Given the description of an element on the screen output the (x, y) to click on. 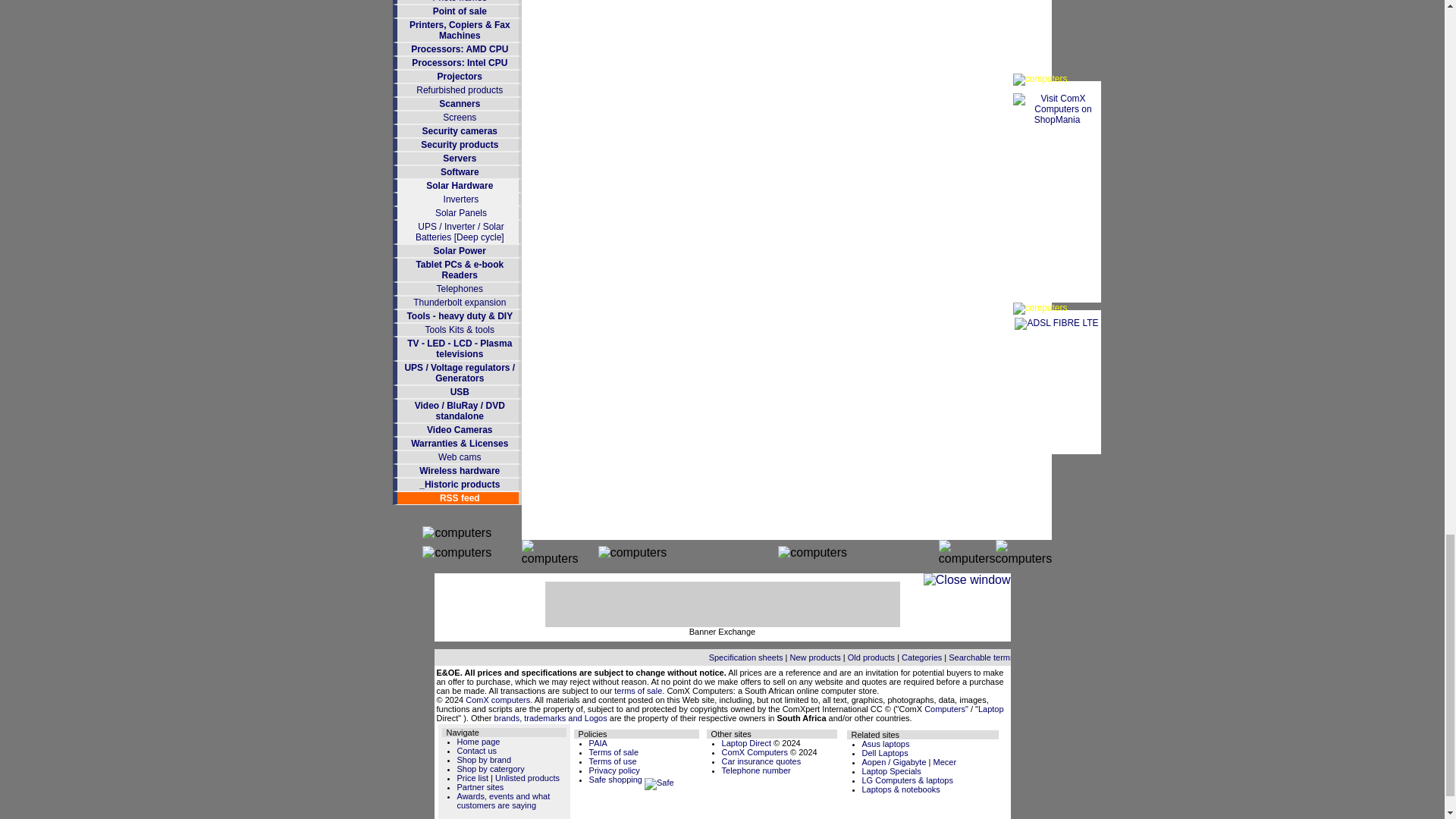
Telephones (459, 288)
Refurbished products (459, 90)
Thunderbolt expansion (459, 302)
Screens (459, 117)
Photo frames (459, 1)
Visit ComX Computers on ShopMania (1057, 119)
